Given the description of an element on the screen output the (x, y) to click on. 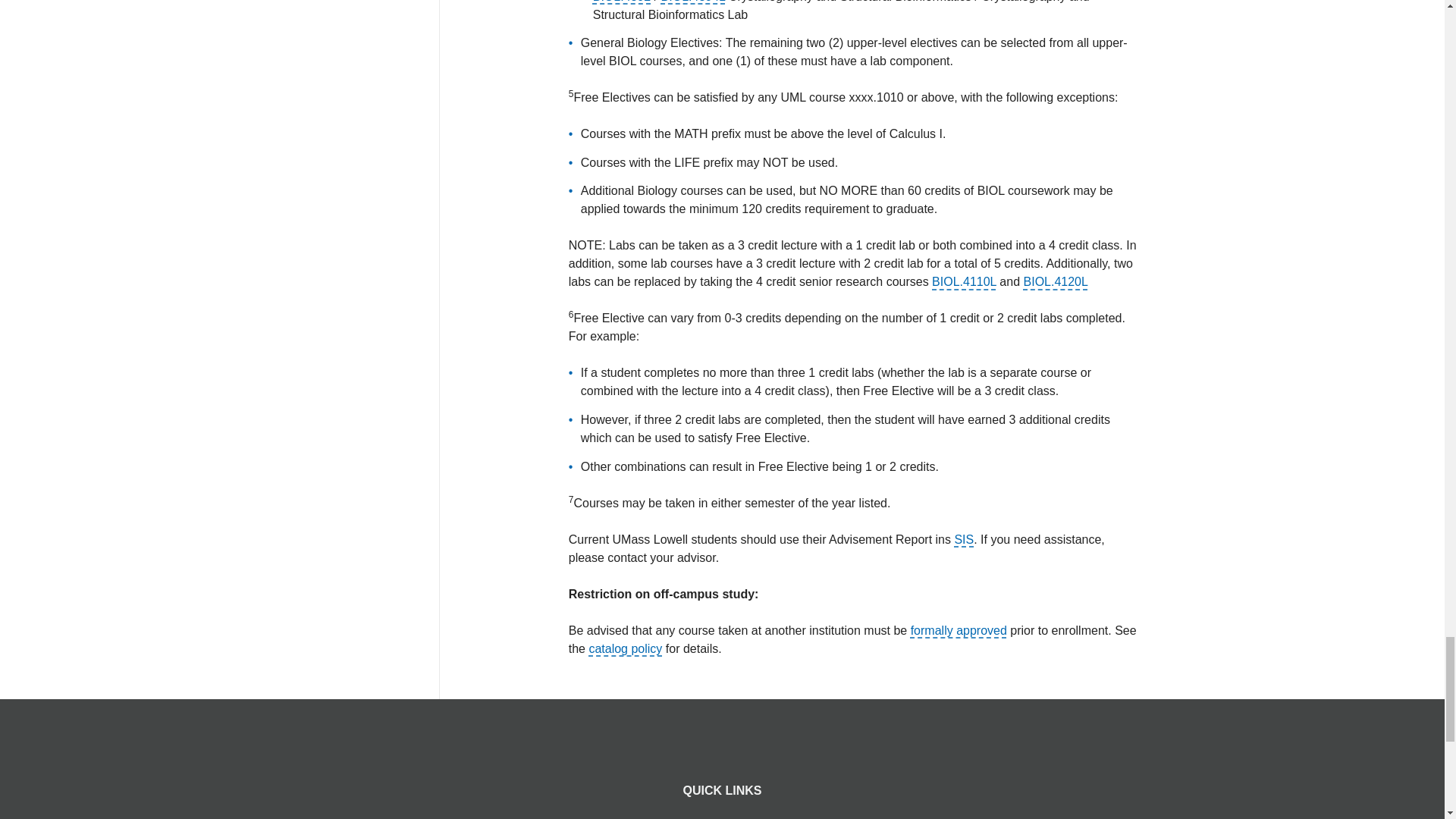
Off Campus Courses (959, 630)
